Given the description of an element on the screen output the (x, y) to click on. 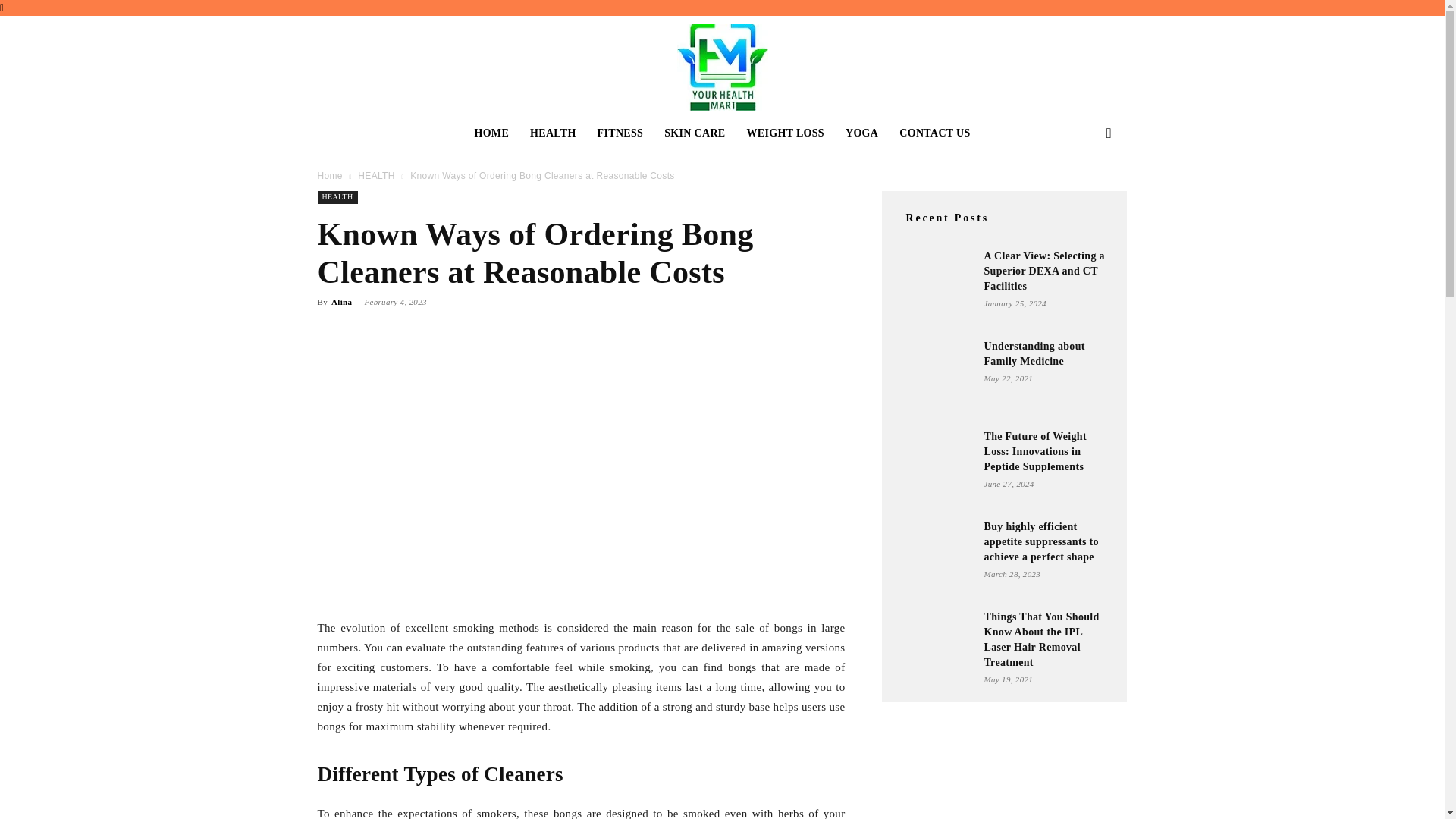
Home (329, 175)
HEALTH (336, 196)
FITNESS (619, 133)
SKIN CARE (694, 133)
CONTACT US (933, 133)
YOGA (861, 133)
View all posts in HEALTH (376, 175)
Search (1085, 193)
Alina (341, 301)
HOME (491, 133)
